Given the description of an element on the screen output the (x, y) to click on. 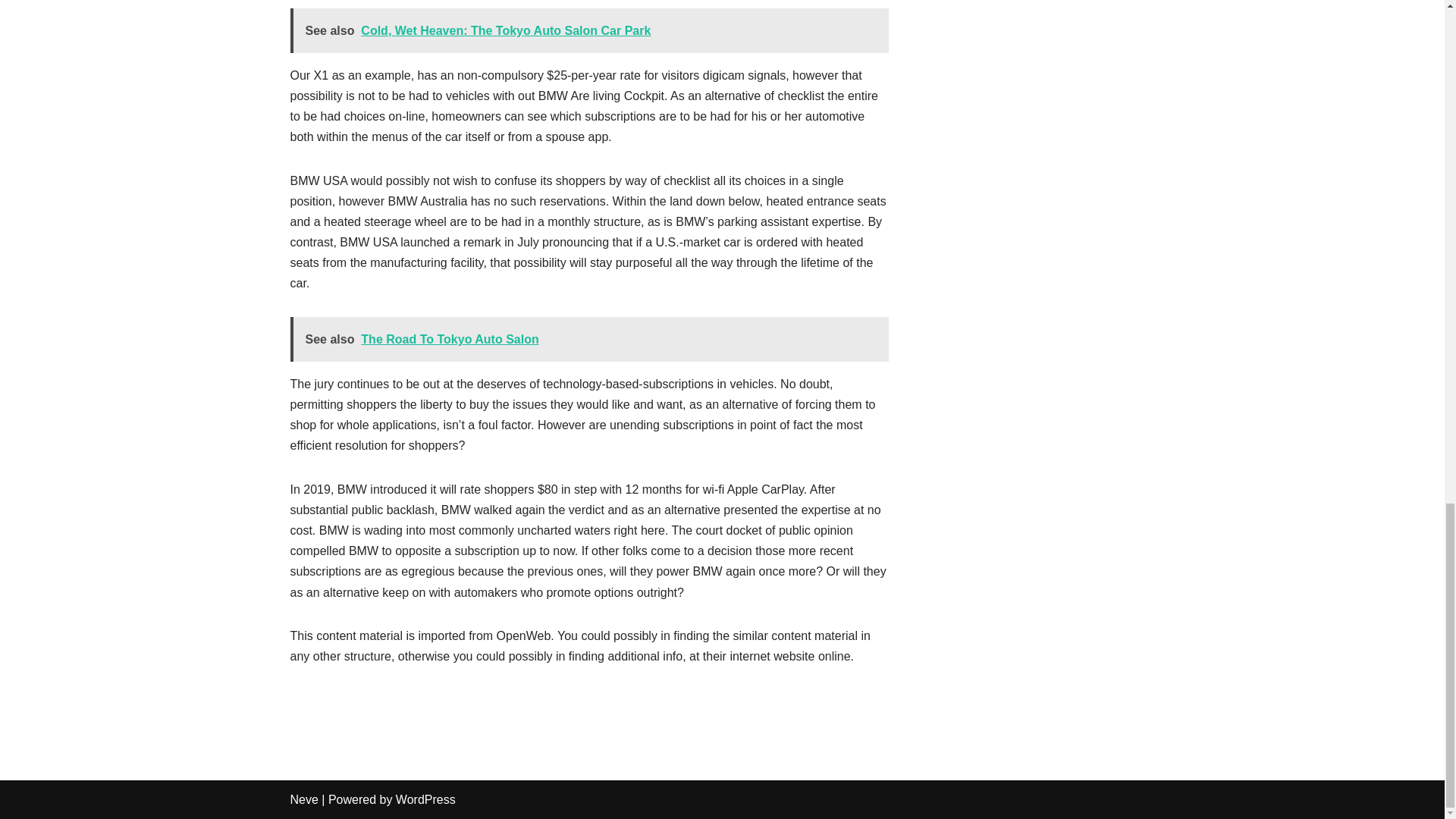
See also  Cold, Wet Heaven: The Tokyo Auto Salon Car Park (588, 30)
Neve (303, 799)
See also  The Road To Tokyo Auto Salon (588, 338)
